Given the description of an element on the screen output the (x, y) to click on. 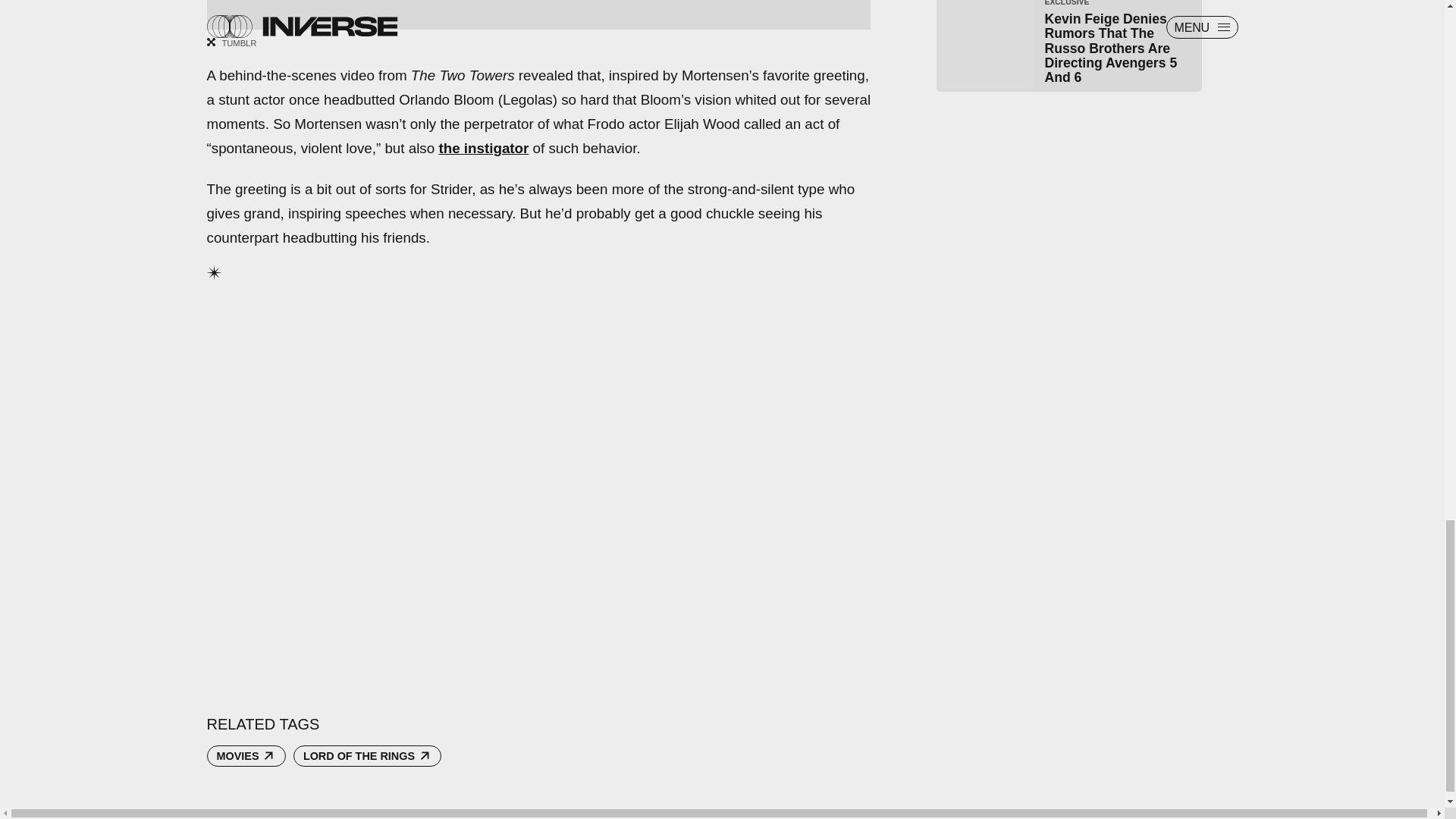
LORD OF THE RINGS (368, 755)
the instigator (483, 148)
MOVIES (245, 755)
